Given the description of an element on the screen output the (x, y) to click on. 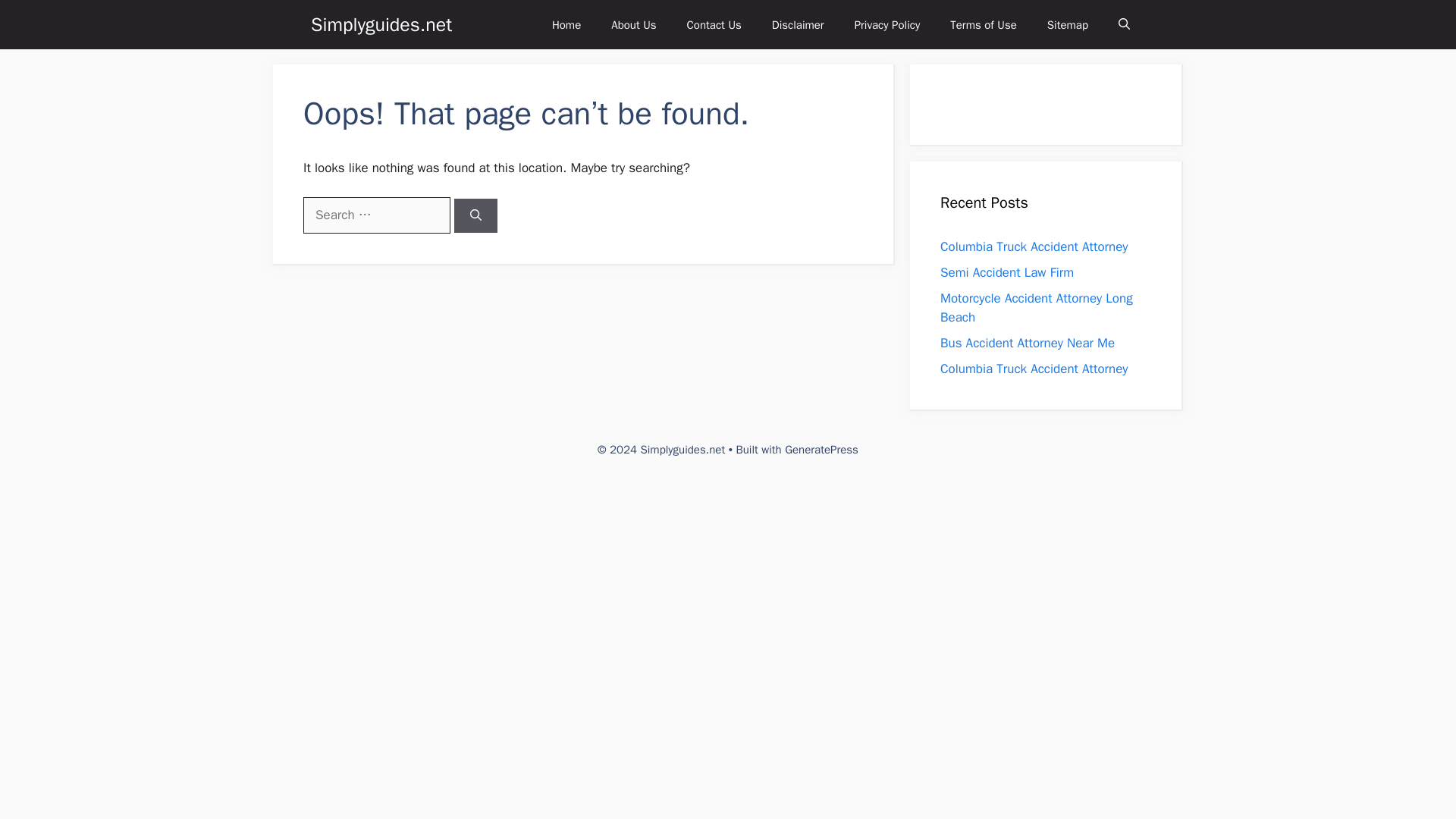
GeneratePress (821, 449)
Terms of Use (983, 23)
Home (566, 23)
Motorcycle Accident Attorney Long Beach (1036, 307)
About Us (633, 23)
Contact Us (714, 23)
Disclaimer (798, 23)
Columbia Truck Accident Attorney (1034, 368)
Sitemap (1067, 23)
Search for: (375, 215)
Simplyguides.net (381, 24)
Semi Accident Law Firm (1007, 271)
Columbia Truck Accident Attorney (1034, 245)
Privacy Policy (888, 23)
Bus Accident Attorney Near Me (1027, 342)
